Given the description of an element on the screen output the (x, y) to click on. 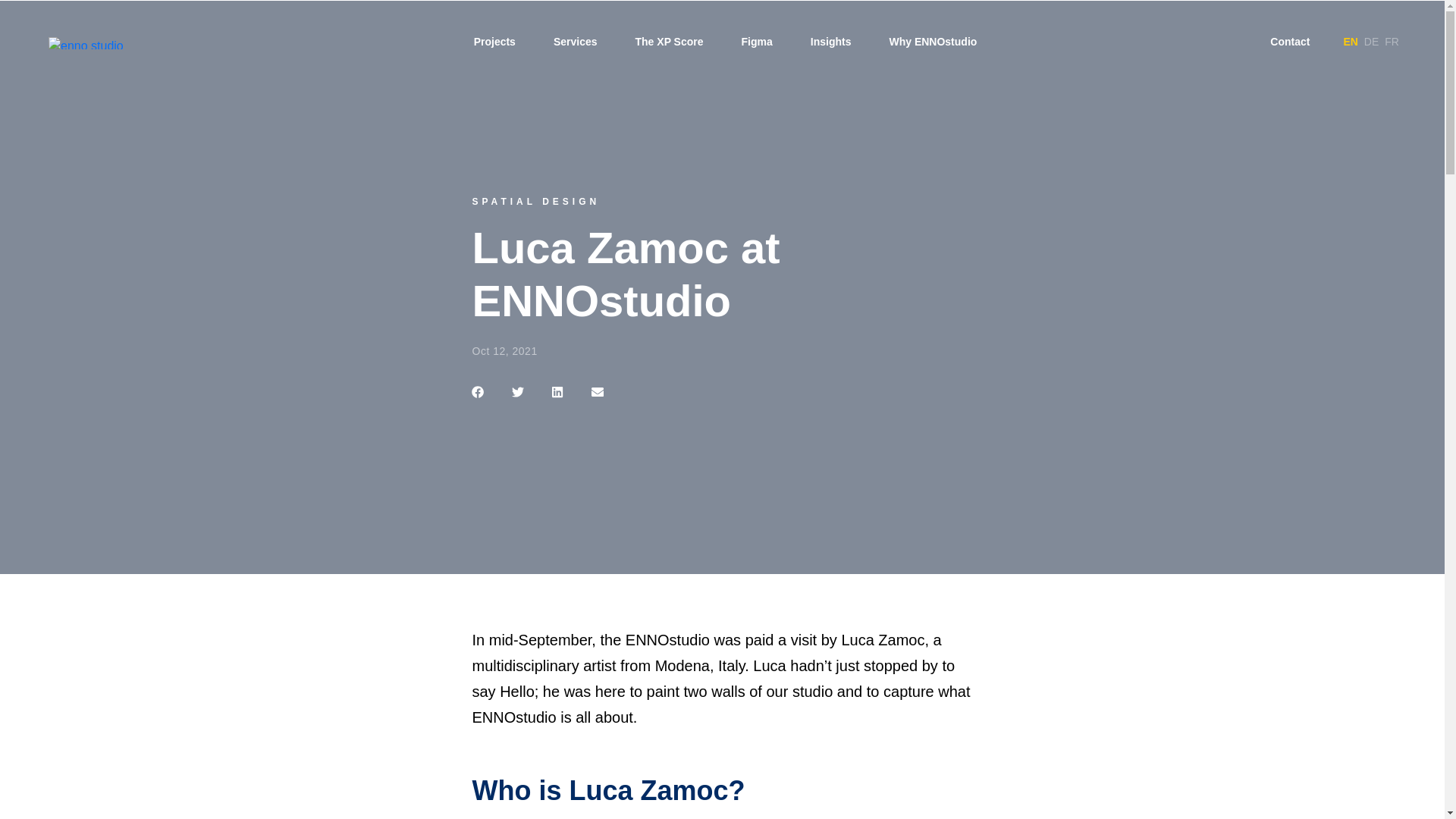
The XP Score (669, 41)
Projects (495, 41)
Why ENNOstudio (932, 41)
Services (574, 41)
Figma (757, 41)
Insights (831, 41)
